Given the description of an element on the screen output the (x, y) to click on. 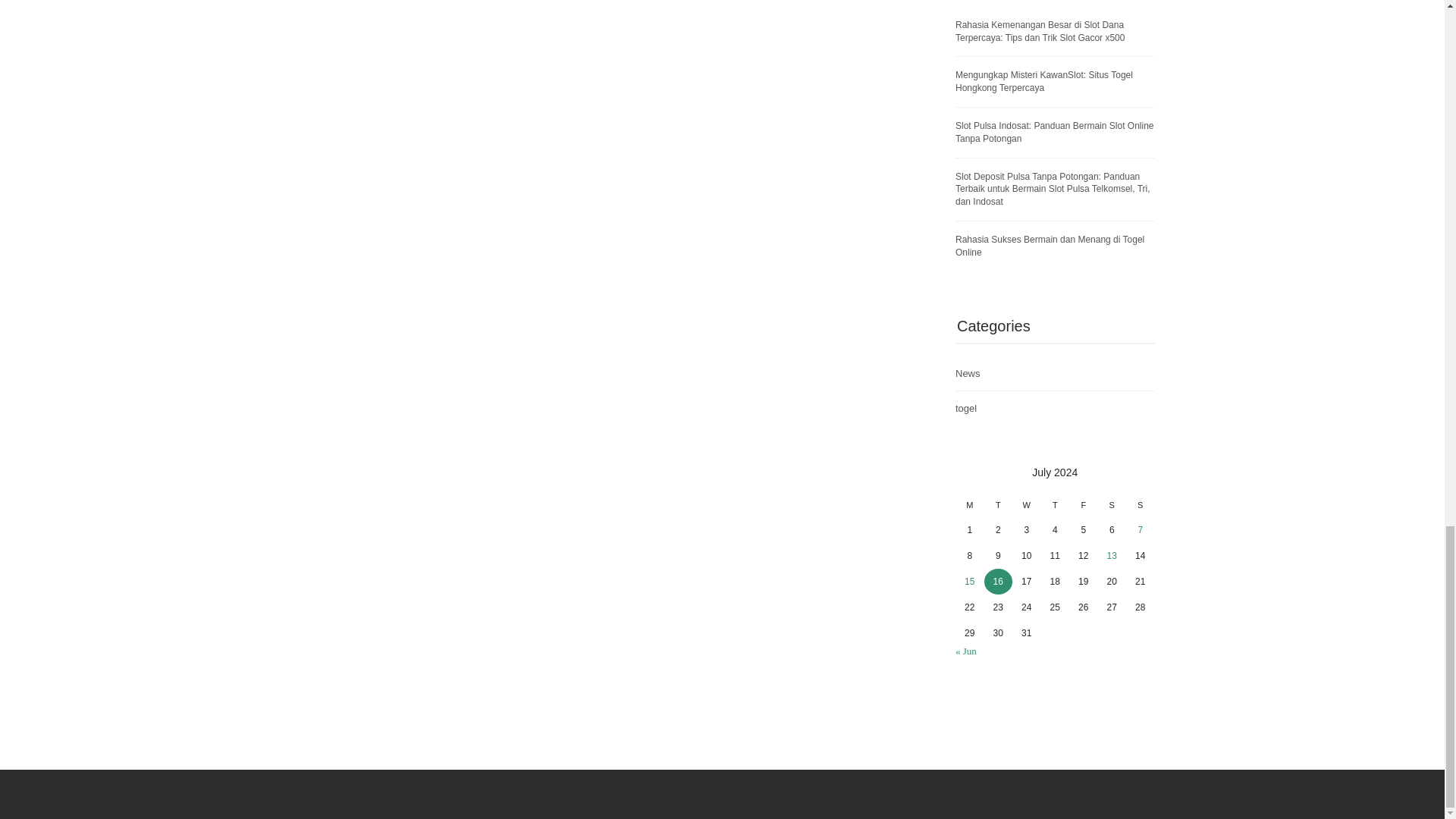
Friday (1082, 508)
Wednesday (1026, 508)
Sunday (1139, 508)
Tuesday (998, 508)
Monday (969, 508)
Saturday (1111, 508)
Thursday (1054, 508)
